Given the description of an element on the screen output the (x, y) to click on. 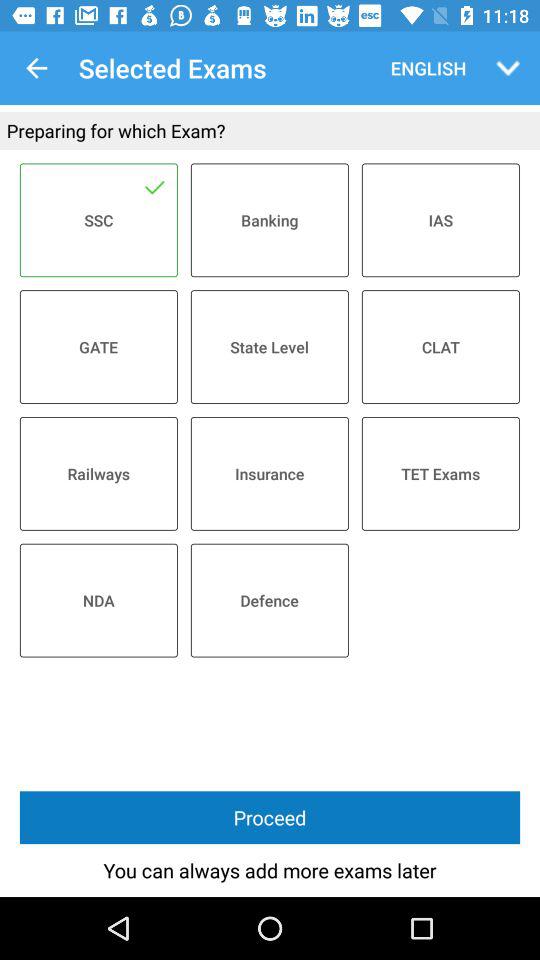
click item above preparing for which icon (508, 67)
